Given the description of an element on the screen output the (x, y) to click on. 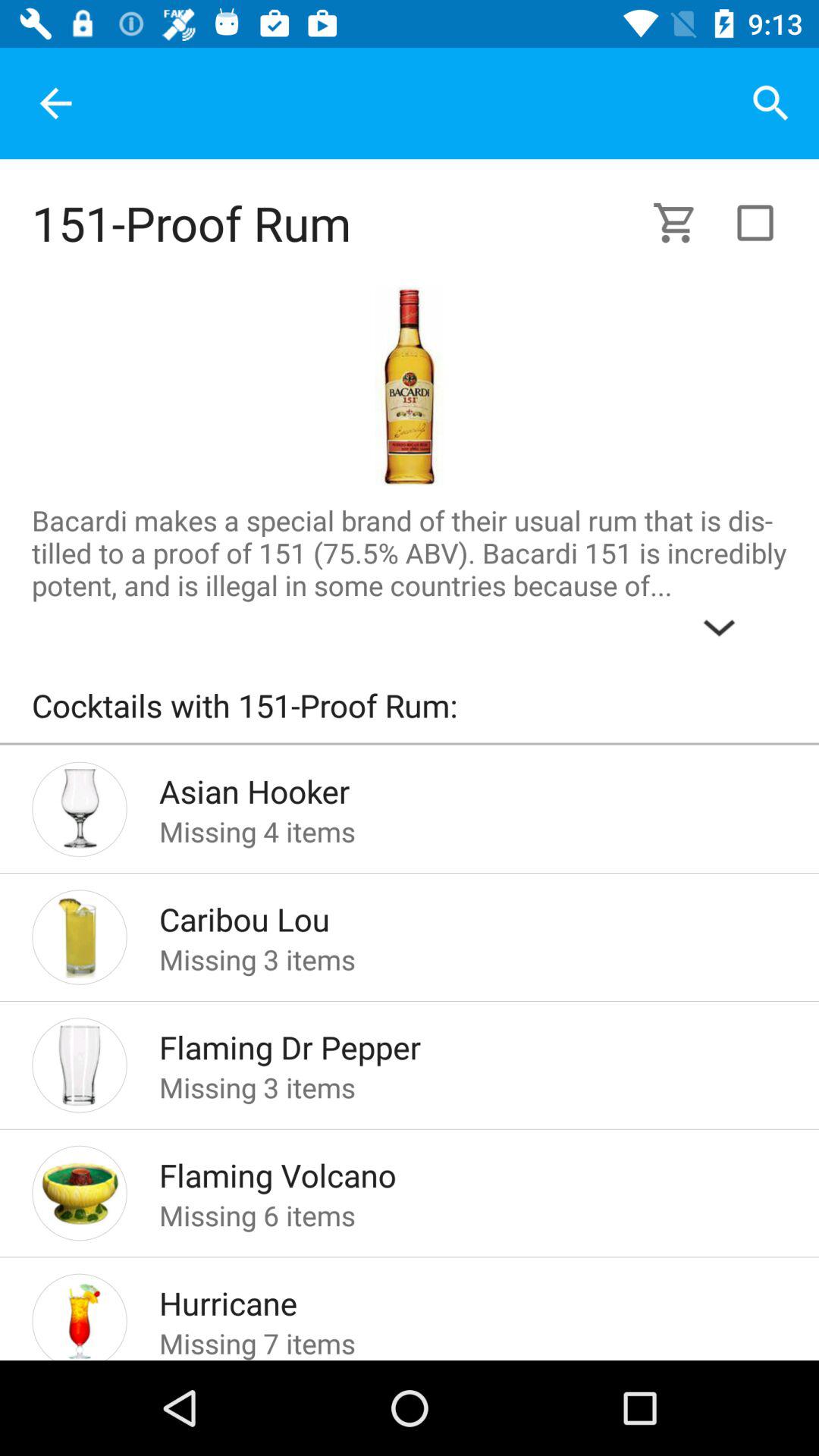
select the caribou lou icon (449, 914)
